Given the description of an element on the screen output the (x, y) to click on. 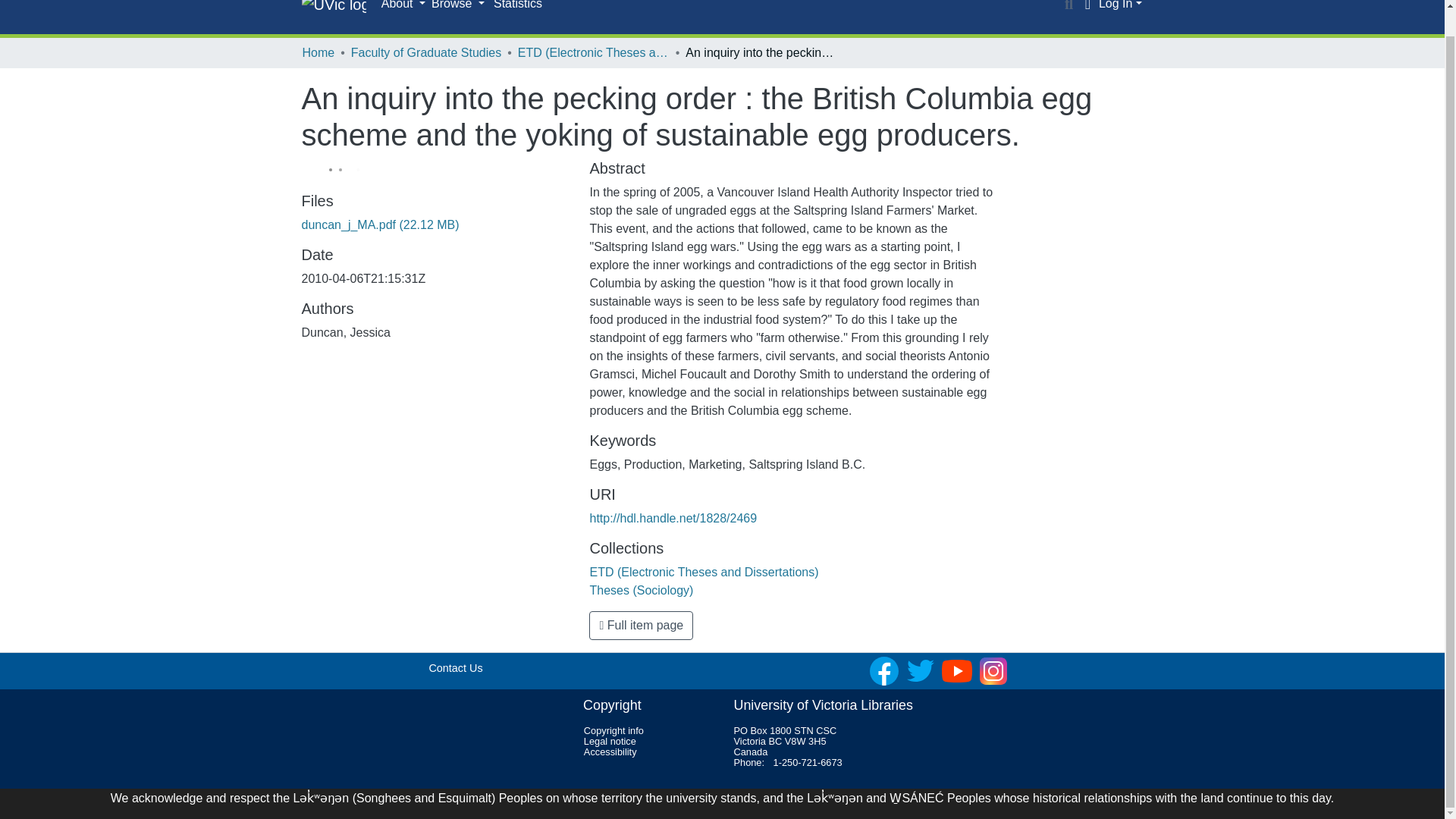
Statistics (517, 9)
Browse (457, 6)
Search (1068, 6)
Full item page (641, 624)
Home (317, 53)
Contact Us (454, 667)
Language switch (1087, 6)
Log In (1119, 4)
Faculty of Graduate Studies (425, 53)
About (403, 6)
Statistics (517, 9)
